Given the description of an element on the screen output the (x, y) to click on. 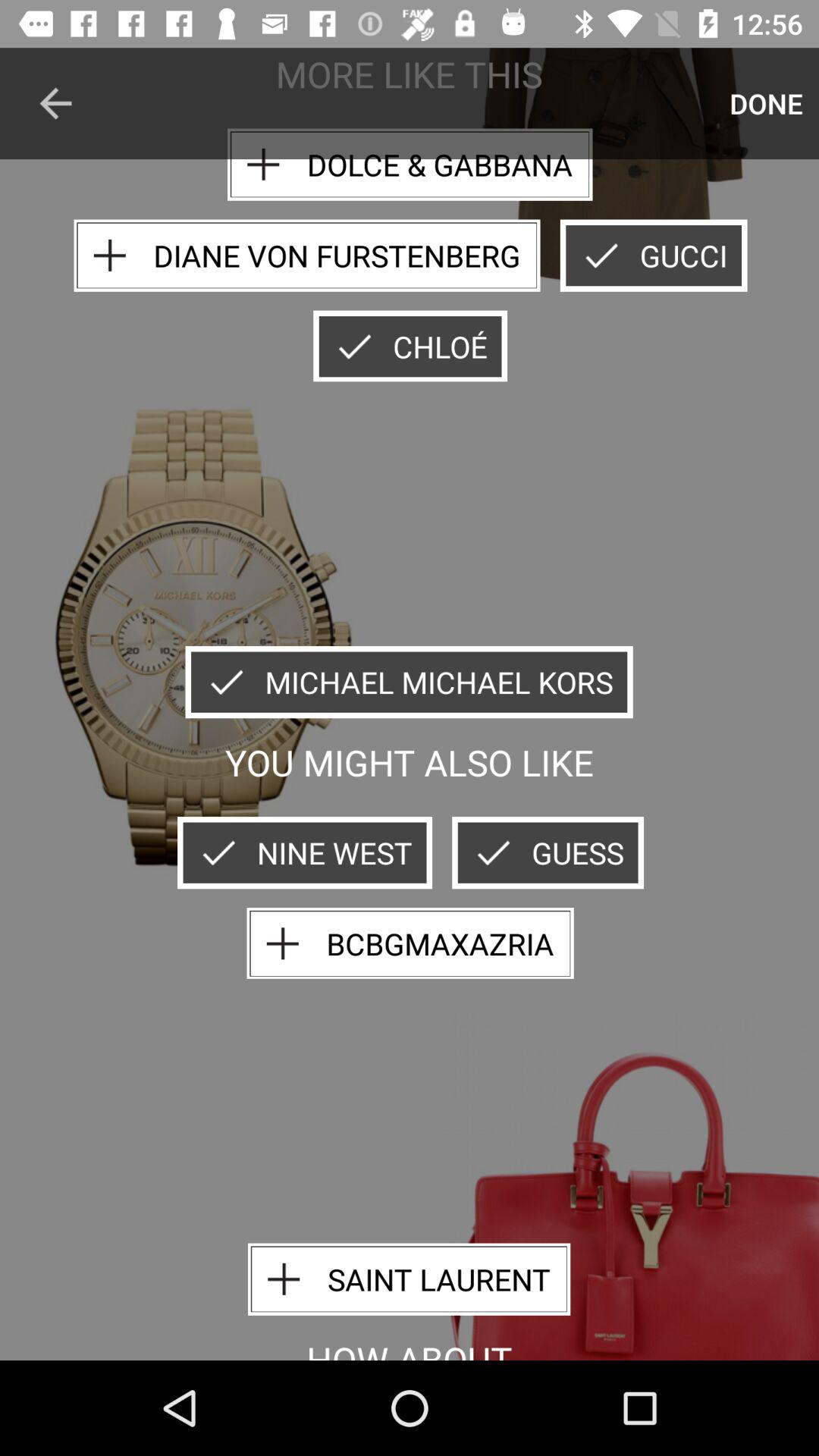
press item above the bcbgmaxazria (547, 852)
